Given the description of an element on the screen output the (x, y) to click on. 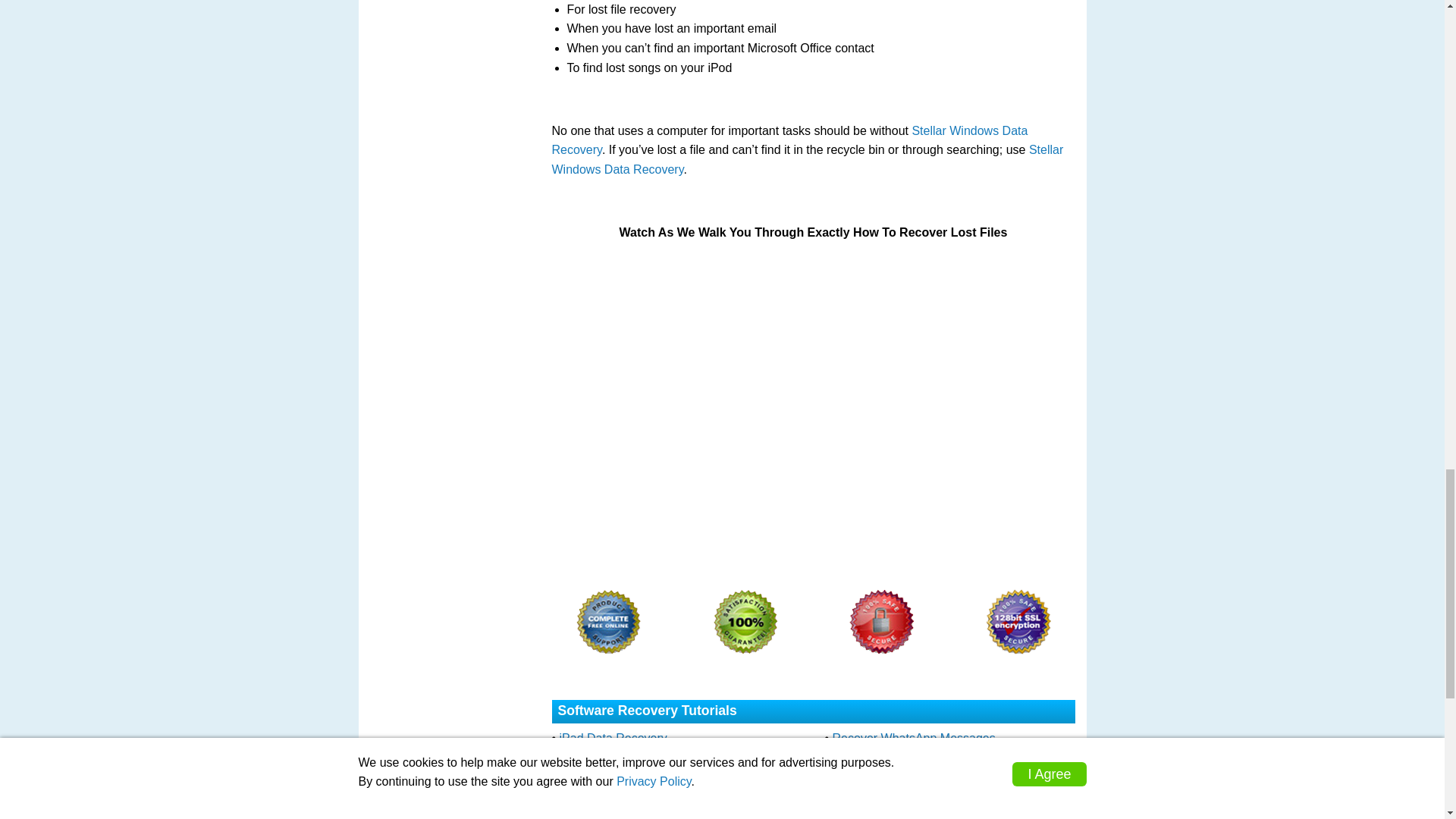
Unformat Hard Drive (615, 792)
How To Perform A Windows Undelete (660, 774)
Windows Data Recovery (898, 774)
Recover Deleted Text Messages Android (668, 756)
Recover iPhone Data (889, 756)
Stellar Windows Data Recovery (789, 140)
Recover HP Partition (888, 792)
Recover WhatsApp Messages (913, 738)
How To Recover HDD (891, 810)
iPad Data Recovery (612, 738)
How To Perform System Restore (647, 810)
Stellar Windows Data Recovery (807, 159)
